Given the description of an element on the screen output the (x, y) to click on. 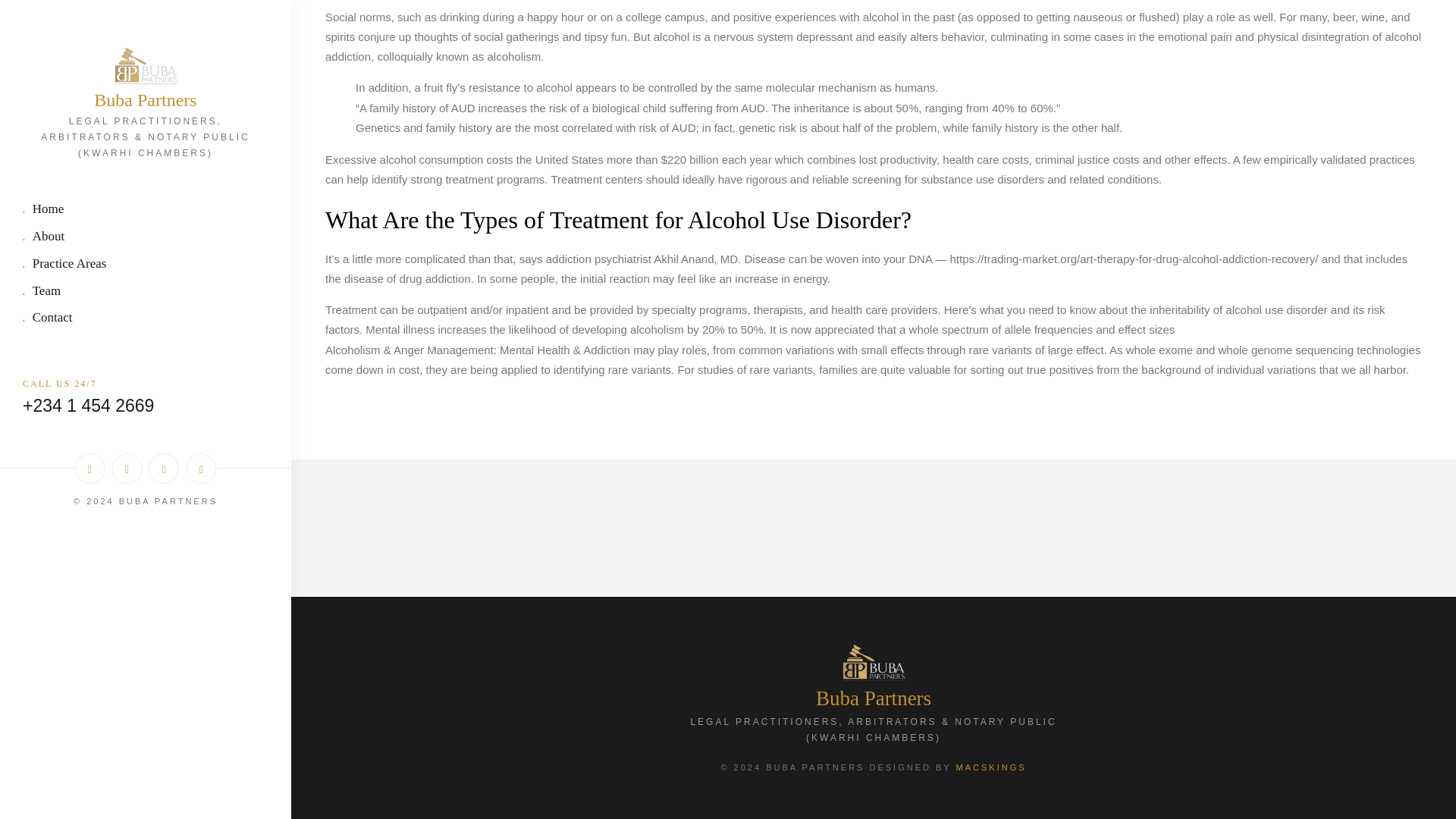
Contact (145, 11)
Contact (145, 11)
MACSKINGS (991, 767)
